Given the description of an element on the screen output the (x, y) to click on. 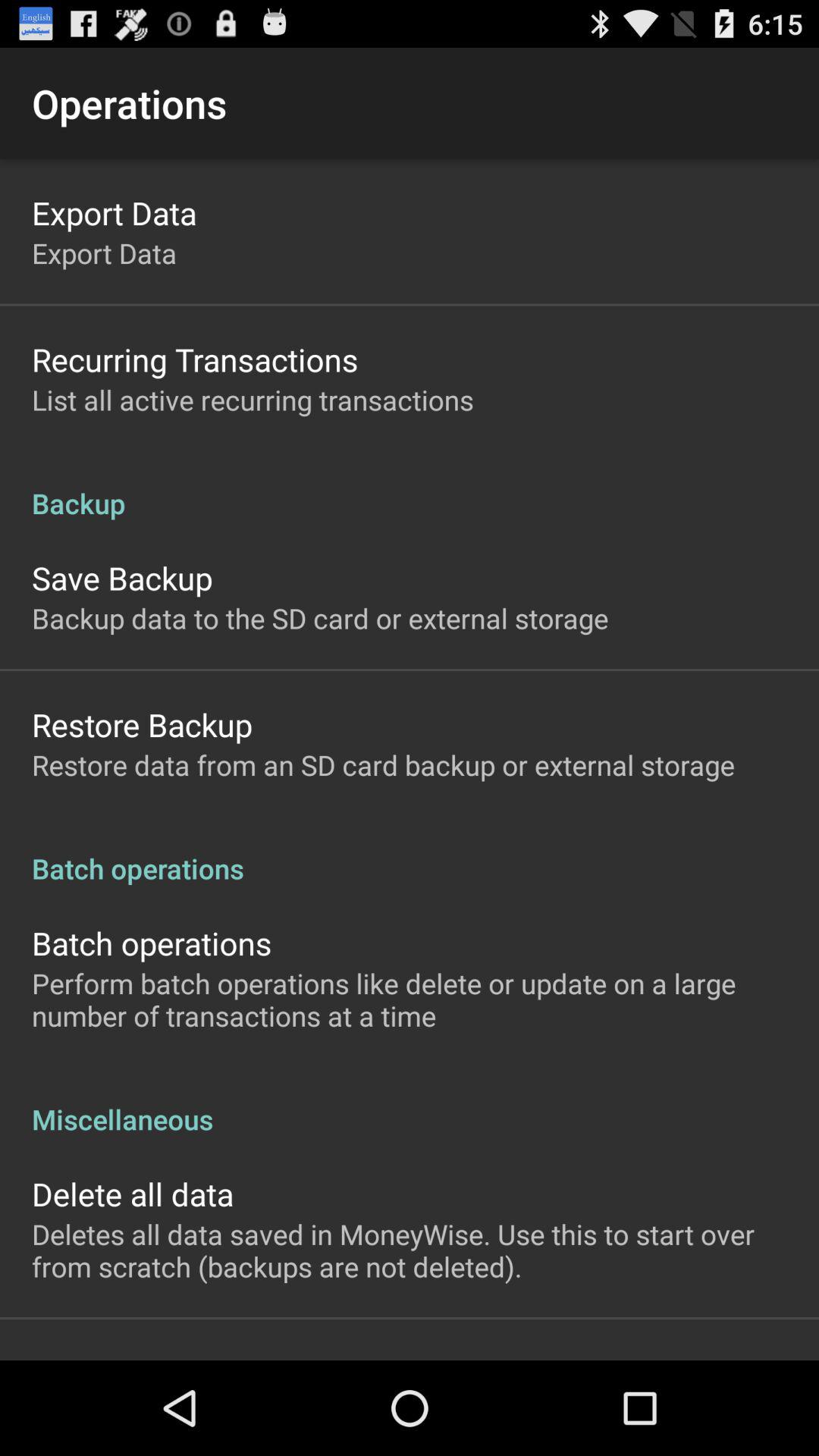
turn on the app below backup (121, 577)
